Given the description of an element on the screen output the (x, y) to click on. 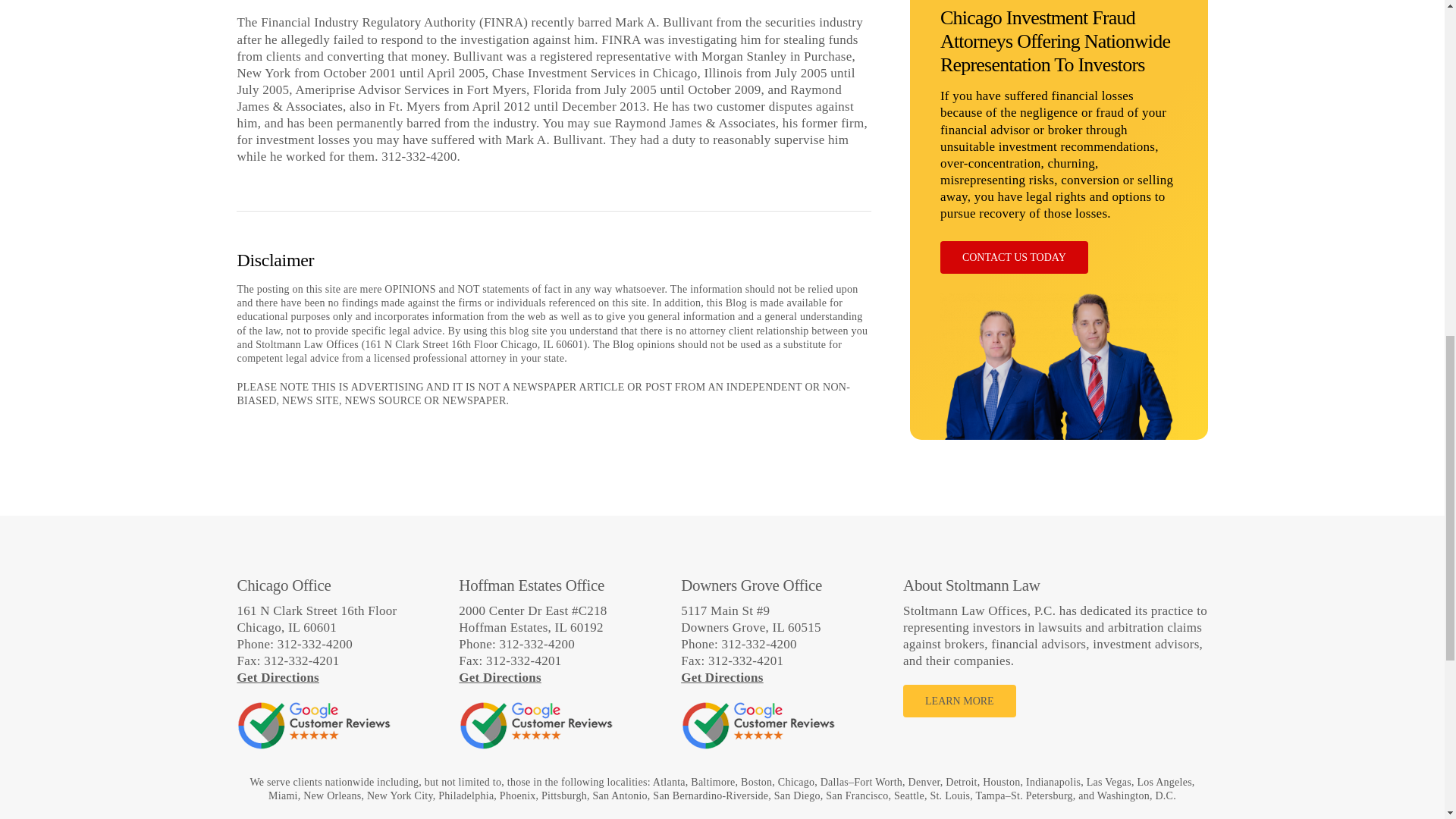
Stoltmann Law Securities Investment Fraud Attorneys (1058, 19)
Google Customer Reviews (535, 725)
